Given the description of an element on the screen output the (x, y) to click on. 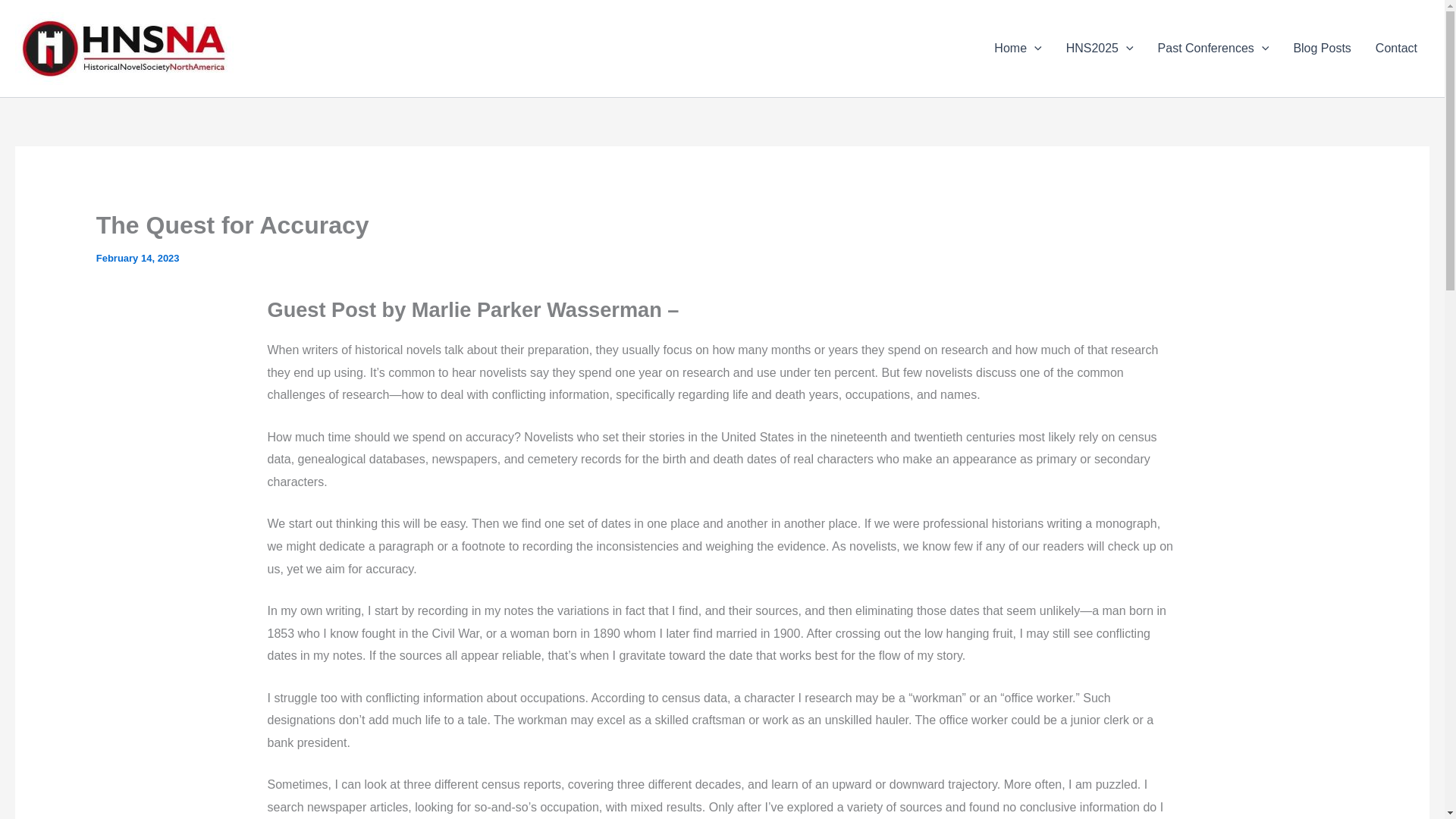
Blog Posts (1321, 48)
Past Conferences (1213, 48)
Home (1016, 48)
Contact (1395, 48)
HNS2025 (1099, 48)
